Given the description of an element on the screen output the (x, y) to click on. 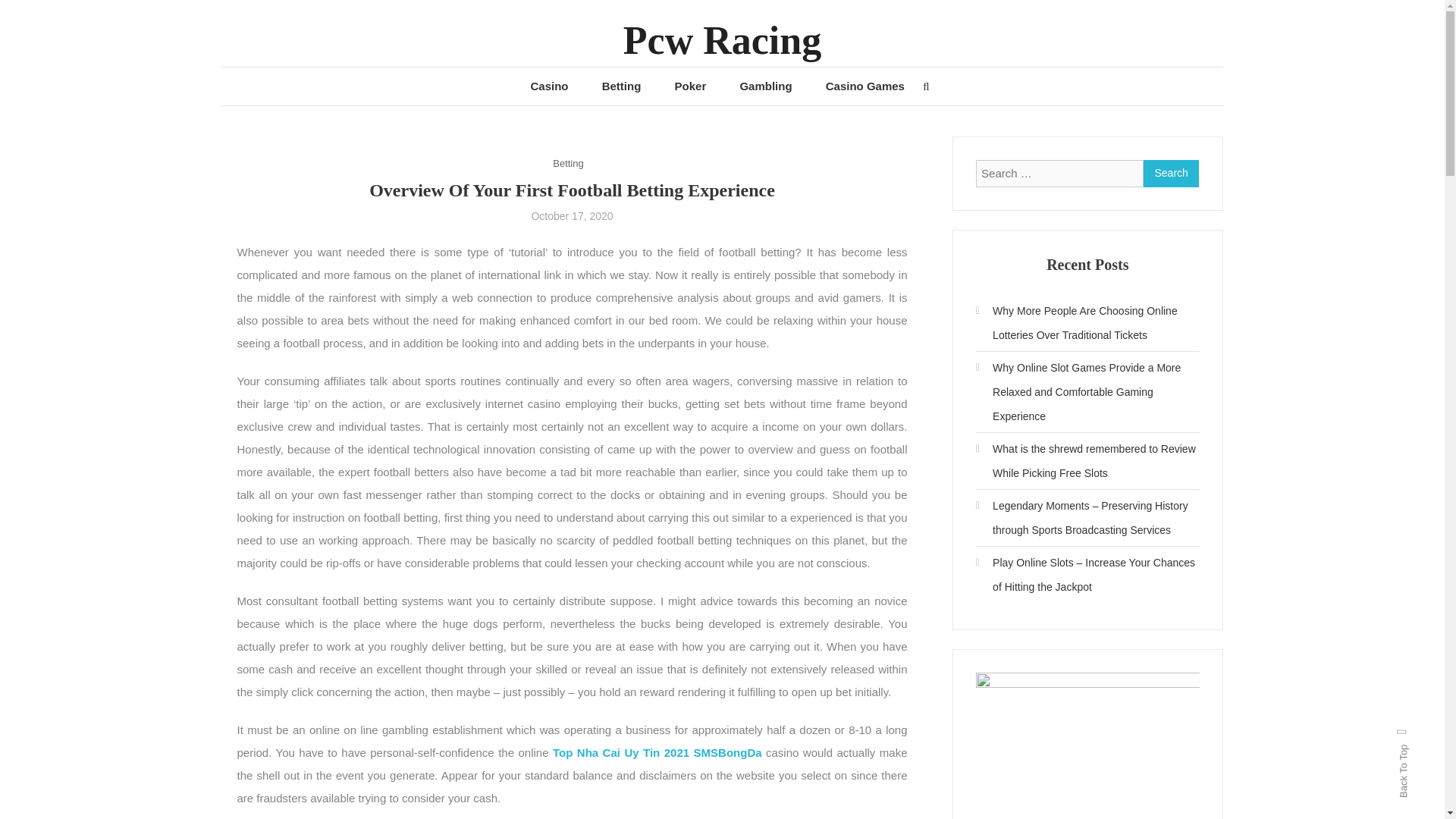
Search (768, 432)
Search (1170, 173)
Casino Games (865, 86)
Pcw Racing (722, 40)
Search (1170, 173)
Top Nha Cai Uy Tin 2021 SMSBongDa (657, 752)
Casino (549, 86)
Gambling (764, 86)
